Given the description of an element on the screen output the (x, y) to click on. 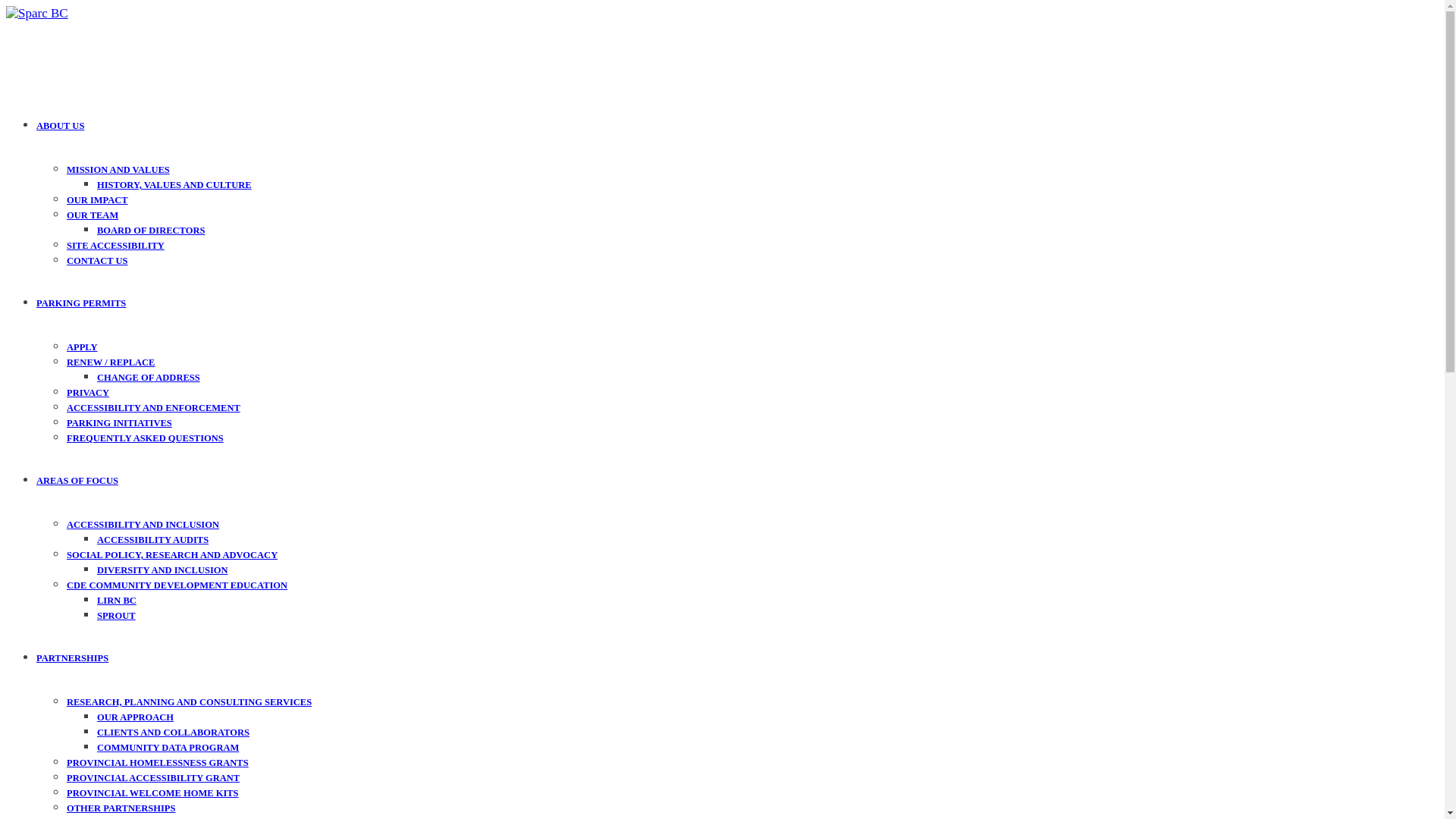
PARKING PERMITS Element type: text (80, 303)
OUR TEAM Element type: text (92, 215)
OUR APPROACH Element type: text (135, 717)
HISTORY, VALUES AND CULTURE Element type: text (174, 184)
FREQUENTLY ASKED QUESTIONS Element type: text (144, 438)
APPLY Element type: text (81, 347)
CDE COMMUNITY DEVELOPMENT EDUCATION Element type: text (176, 585)
CLIENTS AND COLLABORATORS Element type: text (173, 732)
CONTACT US Element type: text (96, 260)
AREAS OF FOCUS Element type: text (77, 480)
PARKING INITIATIVES Element type: text (119, 422)
ACCESSIBILITY AND ENFORCEMENT Element type: text (153, 407)
CHANGE OF ADDRESS Element type: text (148, 377)
ABOUT US Element type: text (60, 125)
LIRN BC Element type: text (116, 600)
PROVINCIAL ACCESSIBILITY GRANT Element type: text (152, 777)
COMMUNITY DATA PROGRAM Element type: text (167, 747)
OTHER PARTNERSHIPS Element type: text (120, 808)
PROVINCIAL WELCOME HOME KITS Element type: text (152, 792)
BOARD OF DIRECTORS Element type: text (150, 230)
DIVERSITY AND INCLUSION Element type: text (162, 569)
PROVINCIAL HOMELESSNESS GRANTS Element type: text (157, 762)
SPROUT Element type: text (116, 615)
SITE ACCESSIBILITY Element type: text (115, 245)
Skip to content Element type: text (5, 5)
ACCESSIBILITY AUDITS Element type: text (152, 539)
ACCESSIBILITY AND INCLUSION Element type: text (142, 524)
MISSION AND VALUES Element type: text (117, 169)
PRIVACY Element type: text (87, 392)
RESEARCH, PLANNING AND CONSULTING SERVICES Element type: text (188, 701)
RENEW / REPLACE Element type: text (110, 362)
OUR IMPACT Element type: text (97, 199)
SOCIAL POLICY, RESEARCH AND ADVOCACY Element type: text (171, 554)
PARTNERSHIPS Element type: text (72, 657)
